Given the description of an element on the screen output the (x, y) to click on. 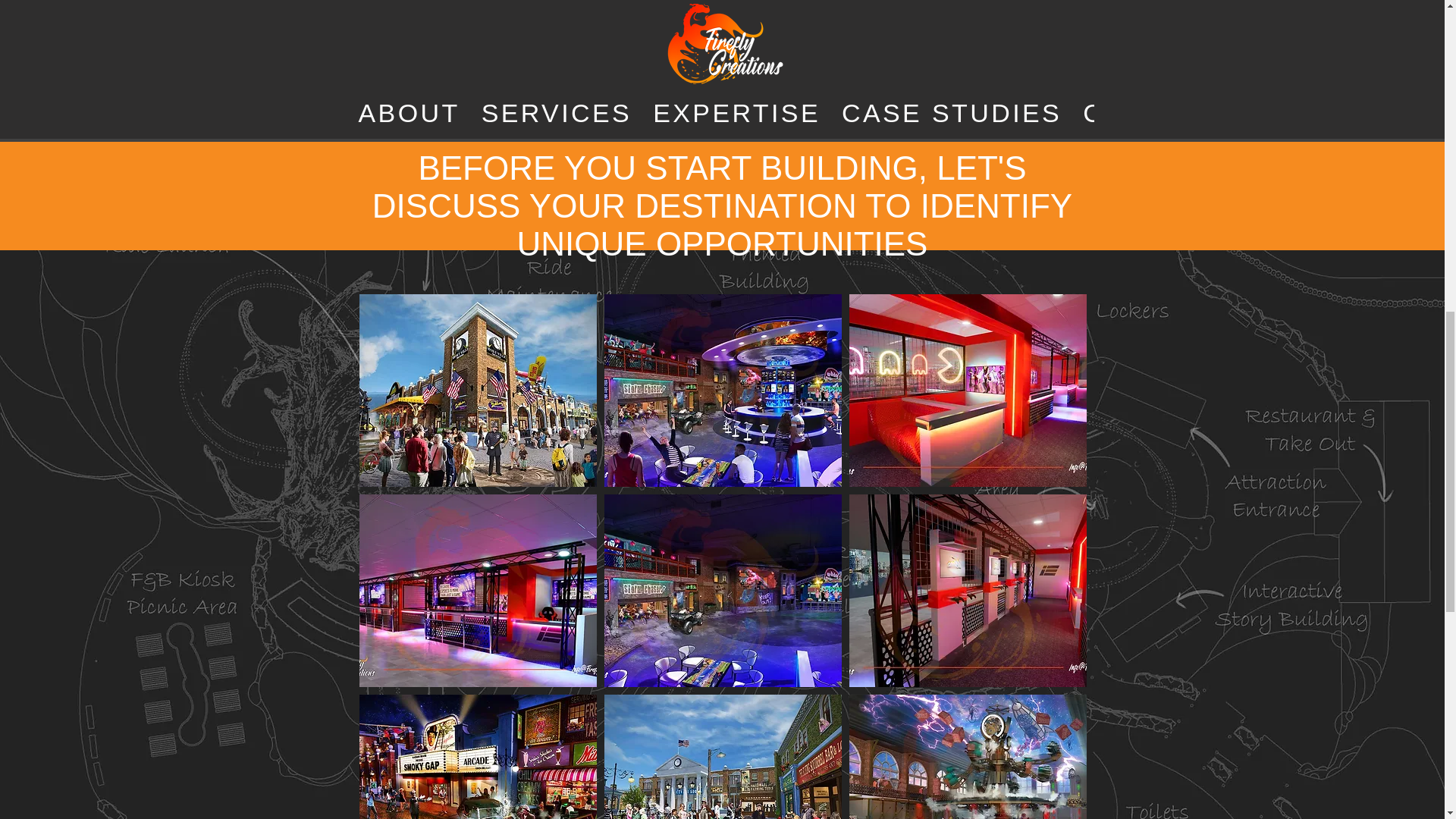
CLICK HERE - SMOKY GAP (722, 107)
